Given the description of an element on the screen output the (x, y) to click on. 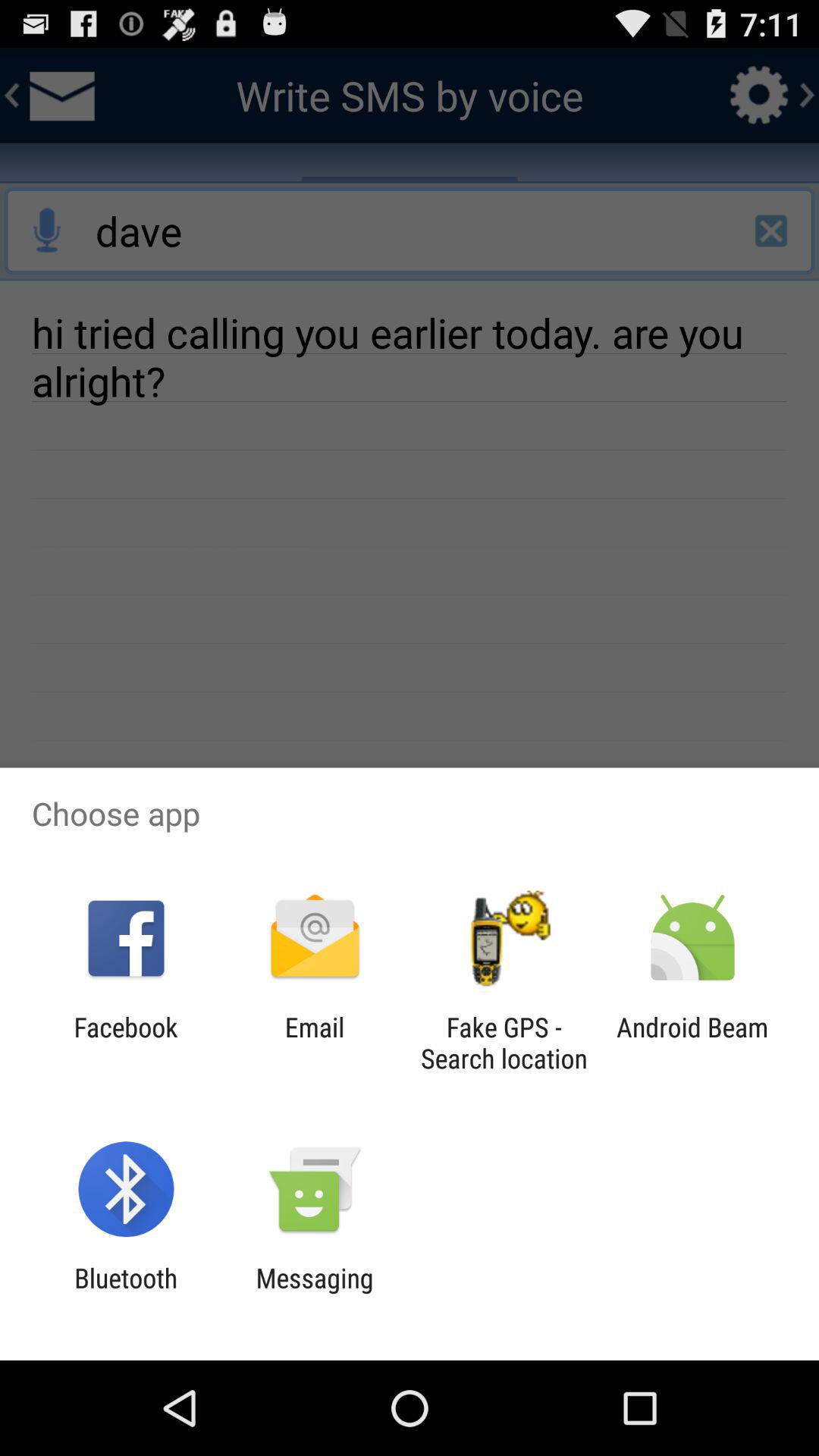
select the item next to the android beam (503, 1042)
